Given the description of an element on the screen output the (x, y) to click on. 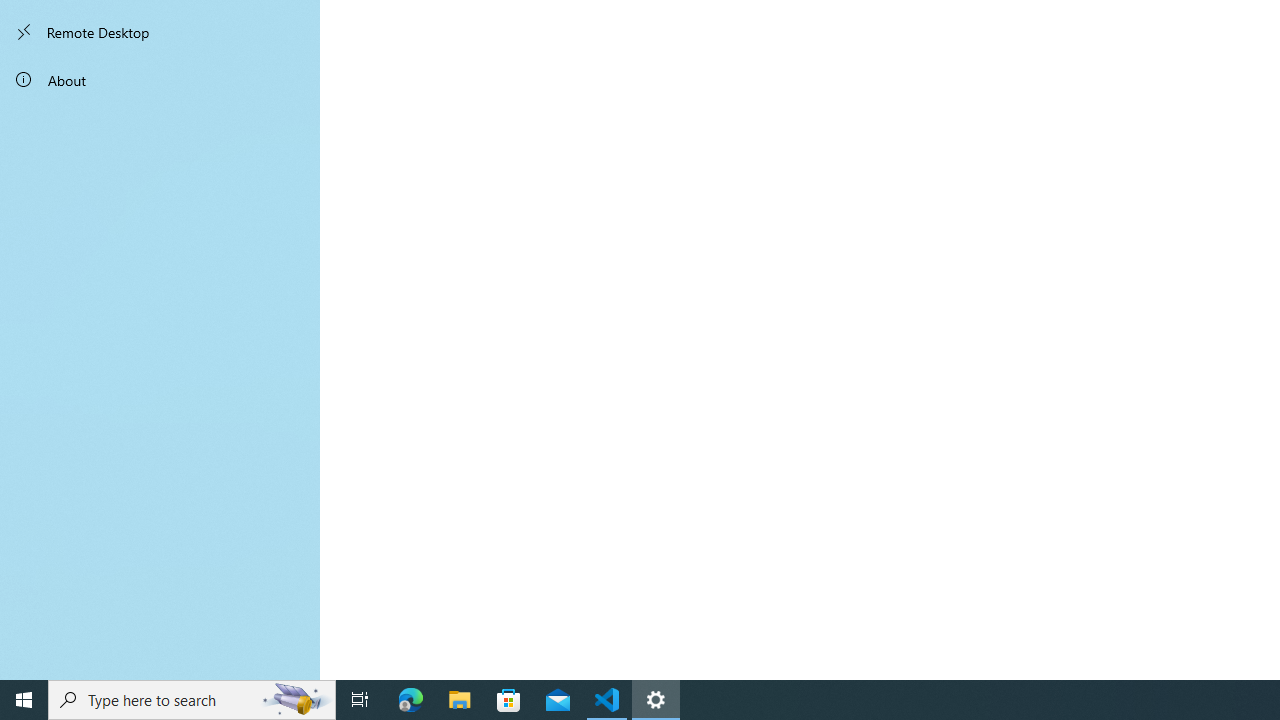
About (160, 79)
Remote Desktop (160, 31)
